Given the description of an element on the screen output the (x, y) to click on. 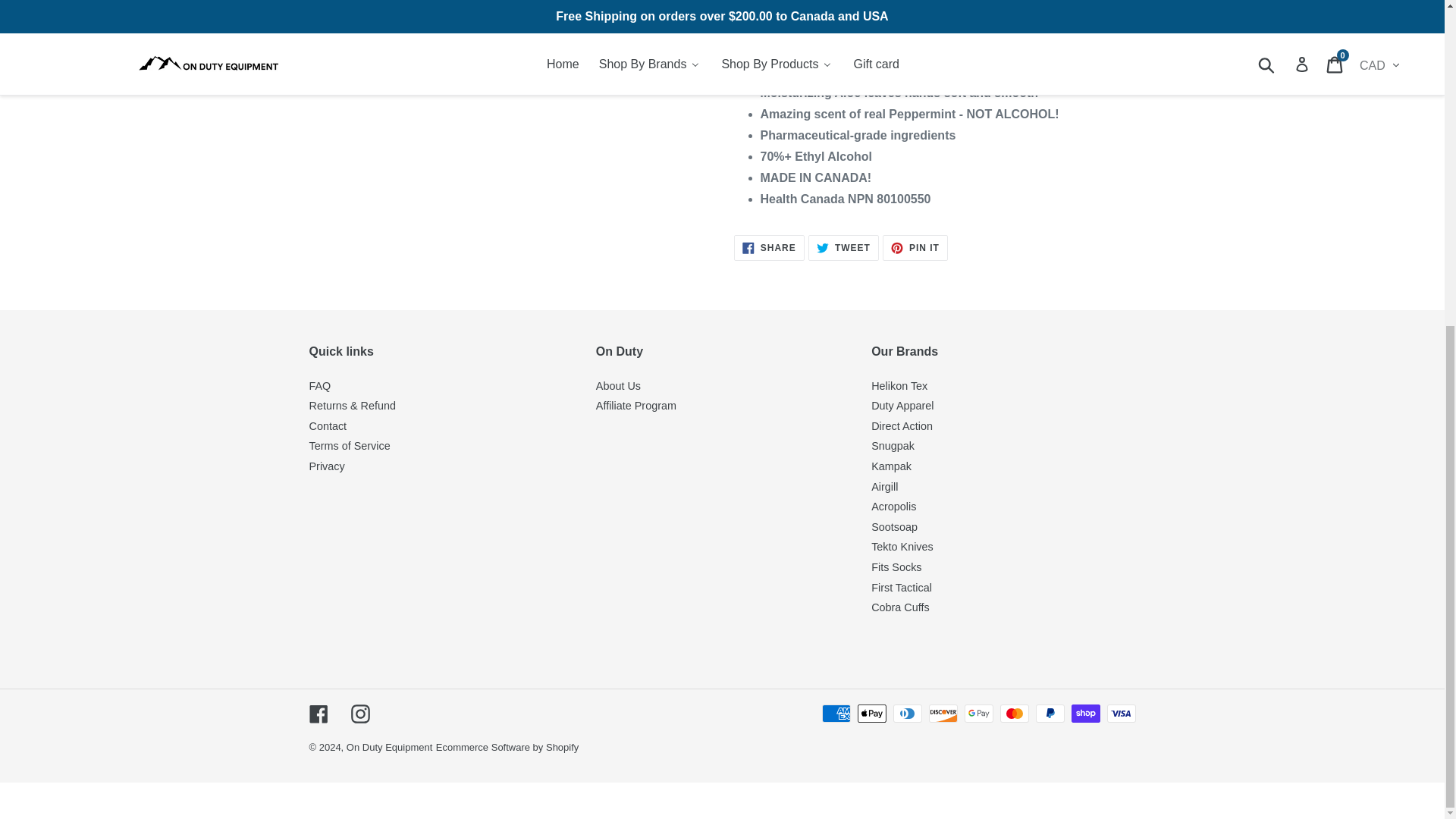
Apple Pay (871, 713)
Diners Club (907, 713)
Shop Pay (1084, 713)
Mastercard (1012, 713)
Visa (1120, 713)
Discover (942, 713)
PayPal (1049, 713)
American Express (836, 713)
Google Pay (977, 713)
